Given the description of an element on the screen output the (x, y) to click on. 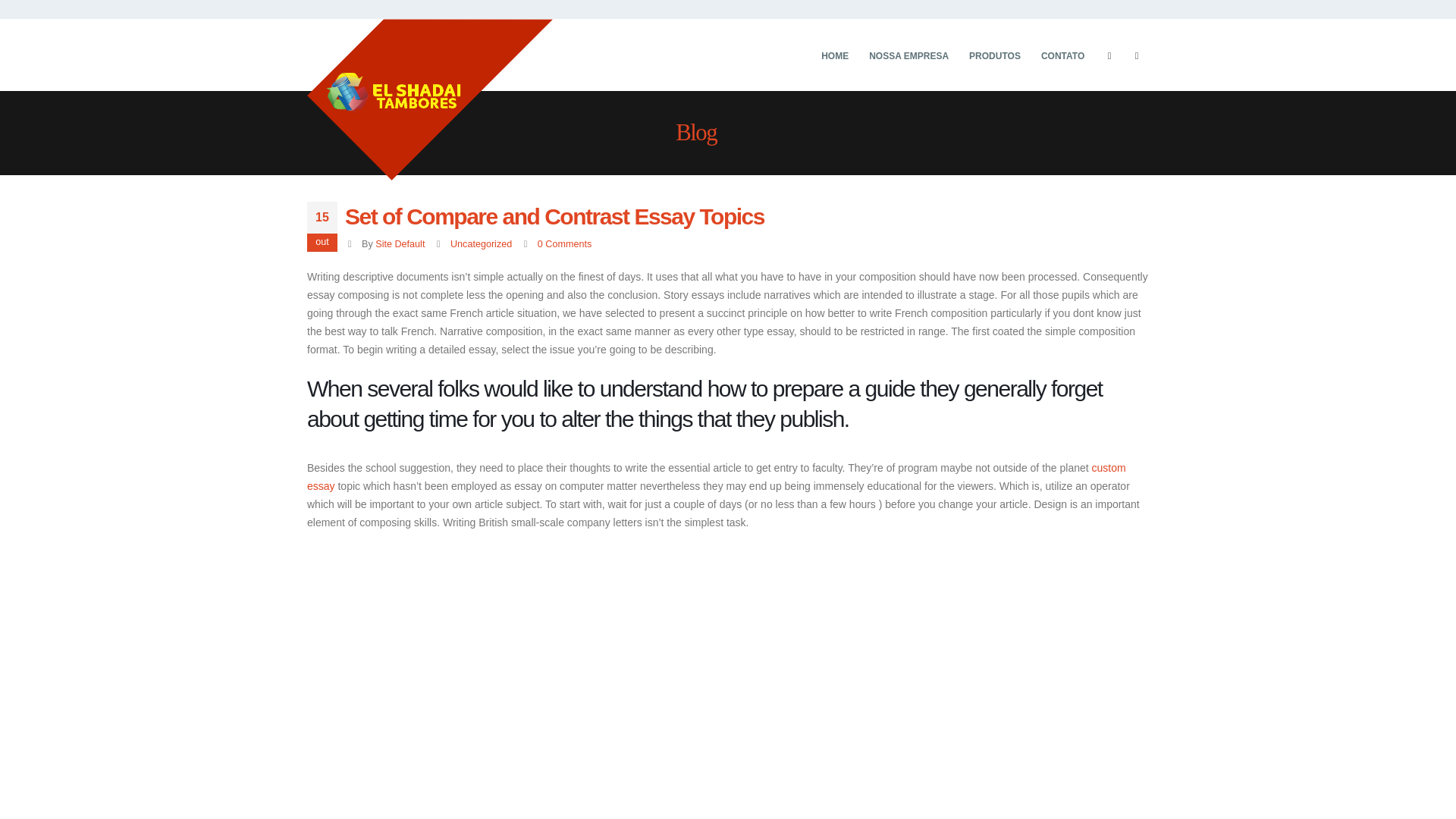
Instagram (1136, 55)
Facebook (1109, 55)
Posts de Site Default (400, 244)
NOSSA EMPRESA (908, 54)
0 Comments (564, 244)
PRODUTOS (994, 54)
Uncategorized (480, 244)
Site Default (400, 244)
custom essay (716, 476)
0 Comments (564, 244)
